Given the description of an element on the screen output the (x, y) to click on. 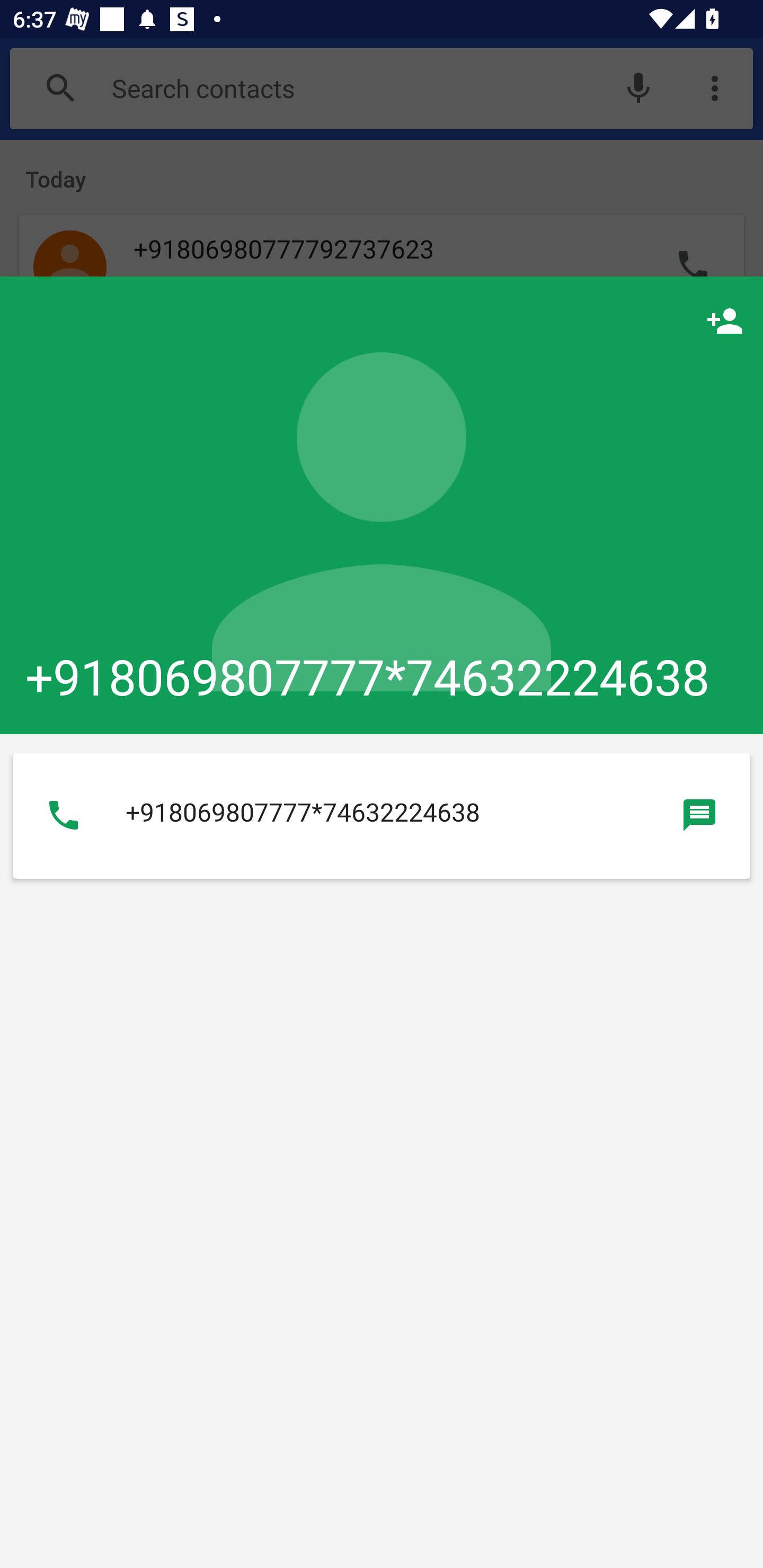
+918069807777*74632224638 (381, 504)
Add to contacts (724, 320)
Text +918069807777*74632224638 (699, 814)
